Given the description of an element on the screen output the (x, y) to click on. 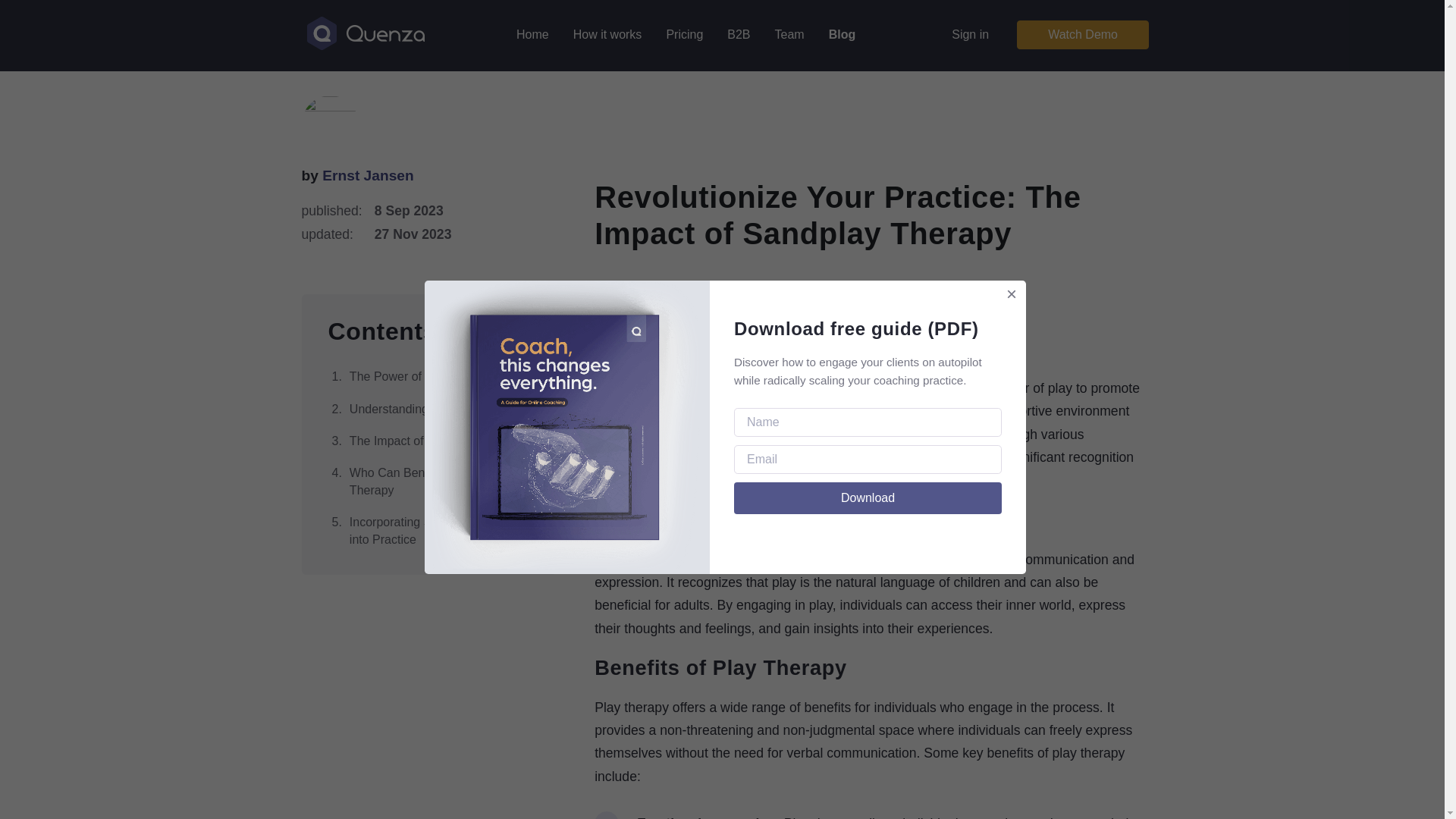
Blog (841, 34)
Home (532, 34)
Understanding Sandplay Therapy (428, 409)
B2B (737, 34)
Sign in (970, 34)
Team (789, 34)
The Power of Play Therapy (428, 377)
Watch Demo (1082, 34)
Download (867, 498)
The Impact of Sandplay Therapy (428, 441)
Who Can Benefit from Sandplay Therapy (428, 481)
Pricing (684, 34)
Incorporating Sandplay Therapy into Practice (428, 531)
Ernst Jansen (367, 175)
How it works (607, 34)
